Given the description of an element on the screen output the (x, y) to click on. 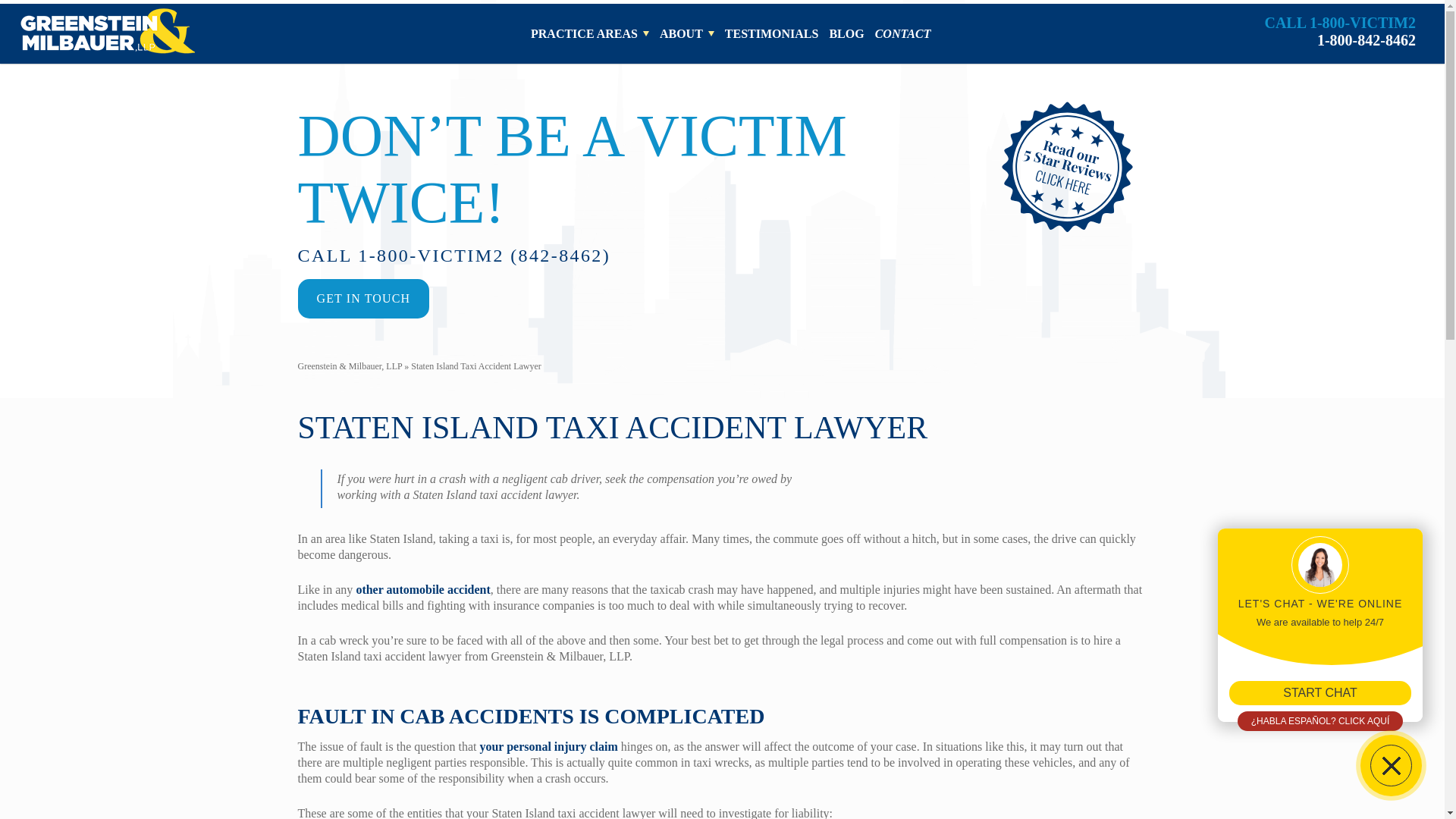
your personal injury claim (548, 746)
ABOUT (686, 33)
TESTIMONIALS (771, 33)
other automobile accident (422, 589)
CONTACT (903, 33)
GET IN TOUCH (1339, 32)
BLOG (363, 298)
PRACTICE AREAS (845, 33)
